Given the description of an element on the screen output the (x, y) to click on. 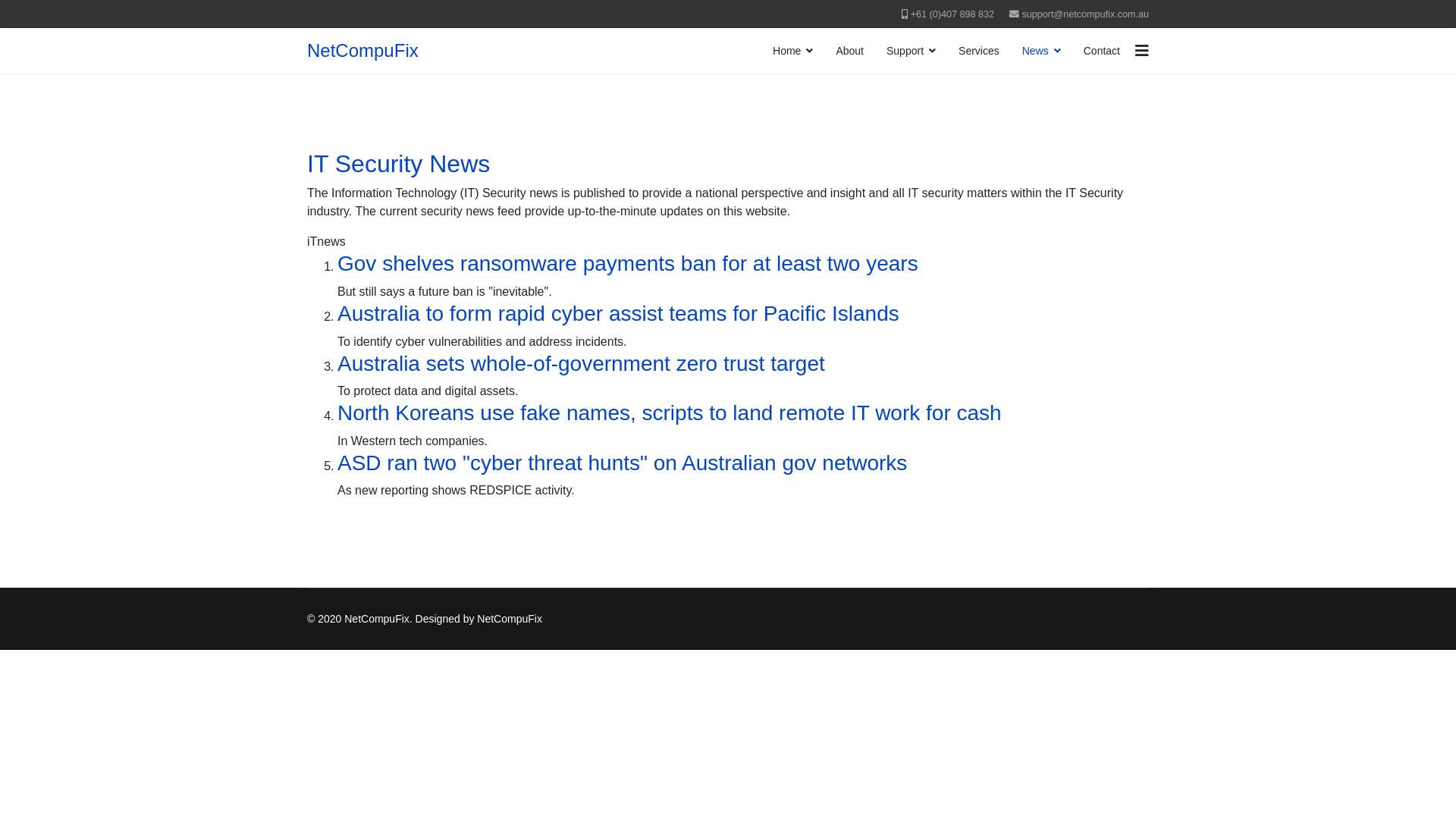
News Element type: text (1041, 50)
support@netcompufix.com.au Element type: text (1085, 14)
About Element type: text (849, 50)
NetCompuFix Element type: text (362, 50)
Australia sets whole-of-government zero trust target Element type: text (581, 363)
Services Element type: text (978, 50)
Home Element type: text (792, 50)
Gov shelves ransomware payments ban for at least two years Element type: text (627, 263)
Navigation Element type: hover (1141, 50)
Contact Element type: text (1101, 50)
+61 (0)407 898 832 Element type: text (952, 14)
IT Security News Element type: text (398, 163)
ASD ran two "cyber threat hunts" on Australian gov networks Element type: text (621, 462)
Support Element type: text (911, 50)
